Given the description of an element on the screen output the (x, y) to click on. 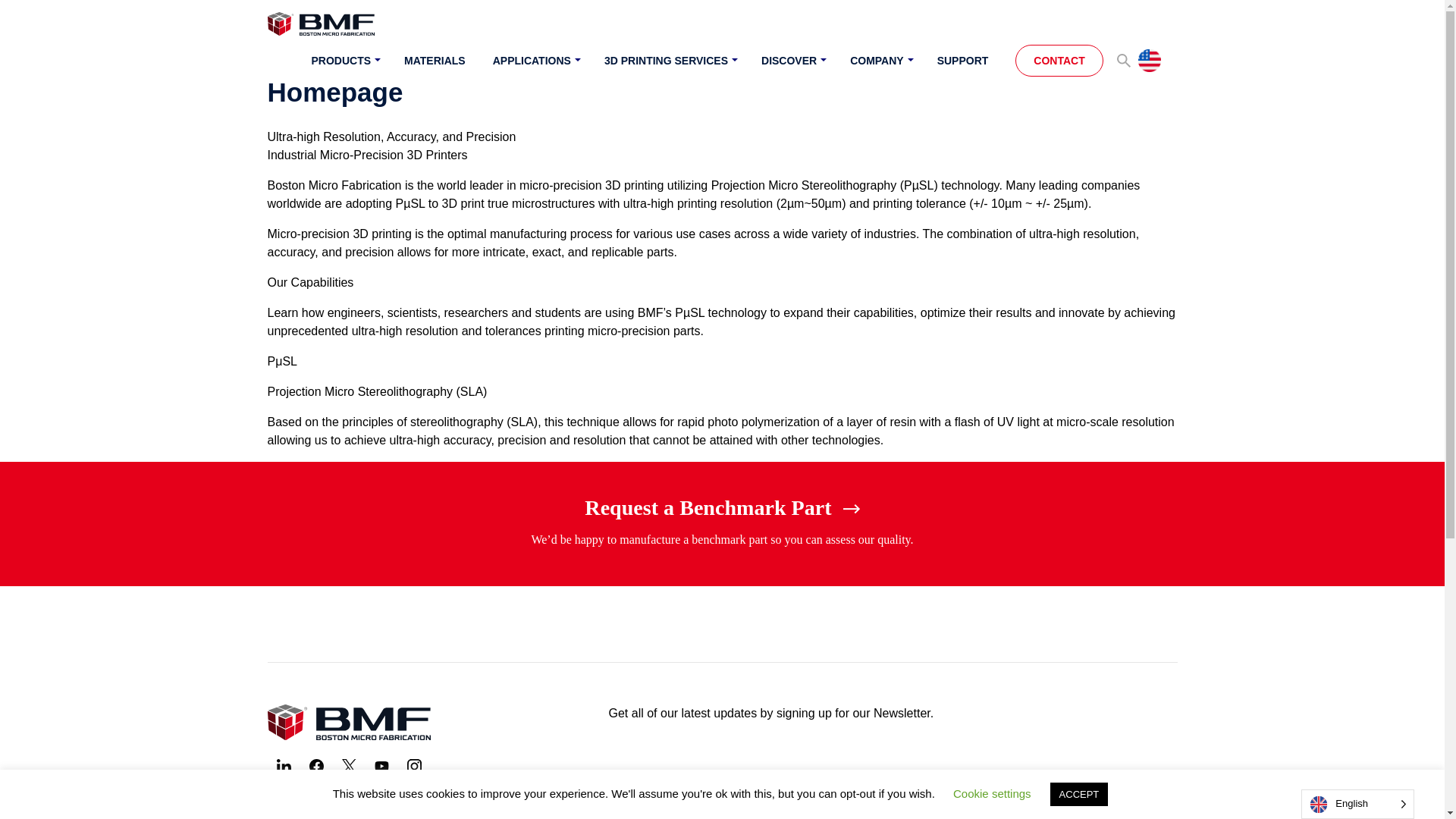
Form 0 (892, 776)
APPLICATIONS (534, 61)
PRODUCTS (344, 61)
SUPPORT (962, 61)
MATERIALS (434, 61)
COMPANY (880, 61)
DISCOVER (791, 61)
3D PRINTING SERVICES (668, 61)
SEARCH (1123, 60)
CONTACT (1058, 60)
